Given the description of an element on the screen output the (x, y) to click on. 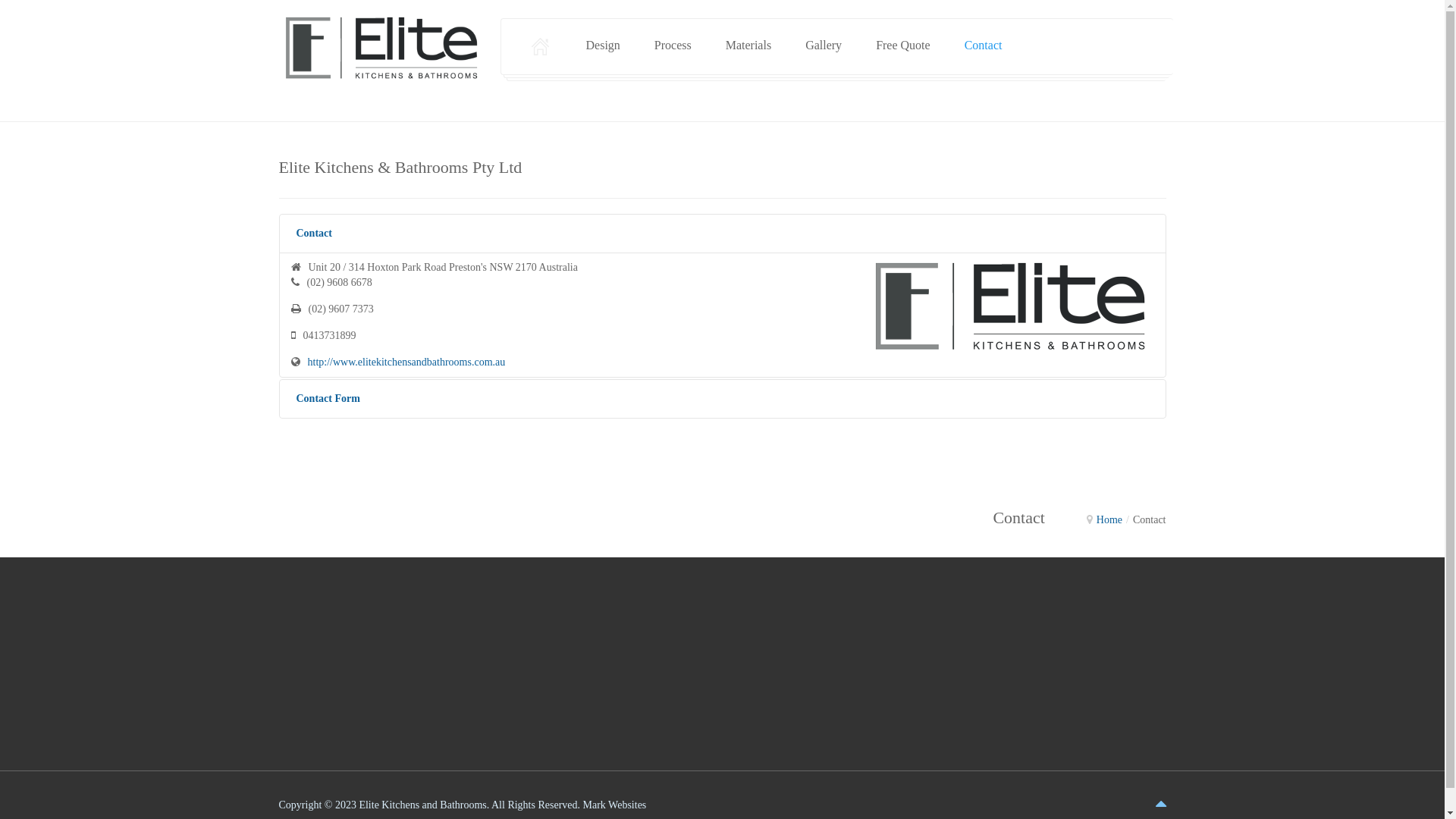
Home Element type: text (1109, 519)
Contact Form Element type: text (722, 398)
Process Element type: text (672, 45)
Free Quote Element type: text (902, 45)
Join Us Element type: text (1098, 668)
Design Element type: text (602, 45)
  Element type: text (540, 46)
Contact Element type: text (722, 233)
Gallery Element type: text (823, 45)
Materials Element type: text (748, 45)
http://www.elitekitchensandbathrooms.com.au Element type: text (406, 361)
You are here:  Element type: hover (1089, 519)
Goto Top Element type: hover (1160, 803)
Contact Element type: text (983, 45)
